Given the description of an element on the screen output the (x, y) to click on. 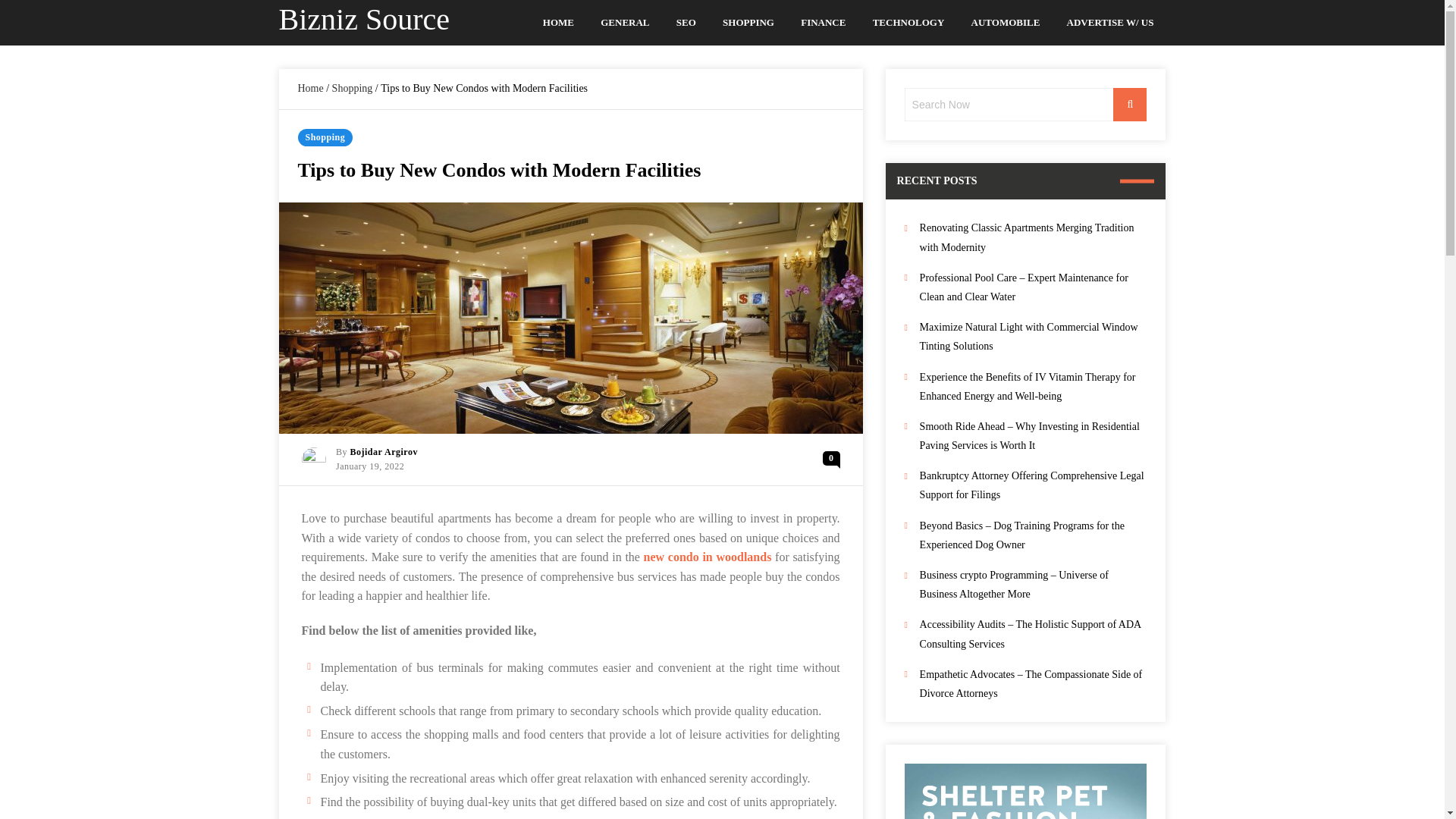
Home (310, 88)
Bizniz Source (364, 19)
TECHNOLOGY (908, 22)
SHOPPING (748, 22)
0 (831, 458)
new condo in woodlands (707, 556)
Posts by Bojidar Argirov (383, 451)
View all posts in Shopping (324, 137)
Shopping (324, 137)
Shopping (351, 88)
